Given the description of an element on the screen output the (x, y) to click on. 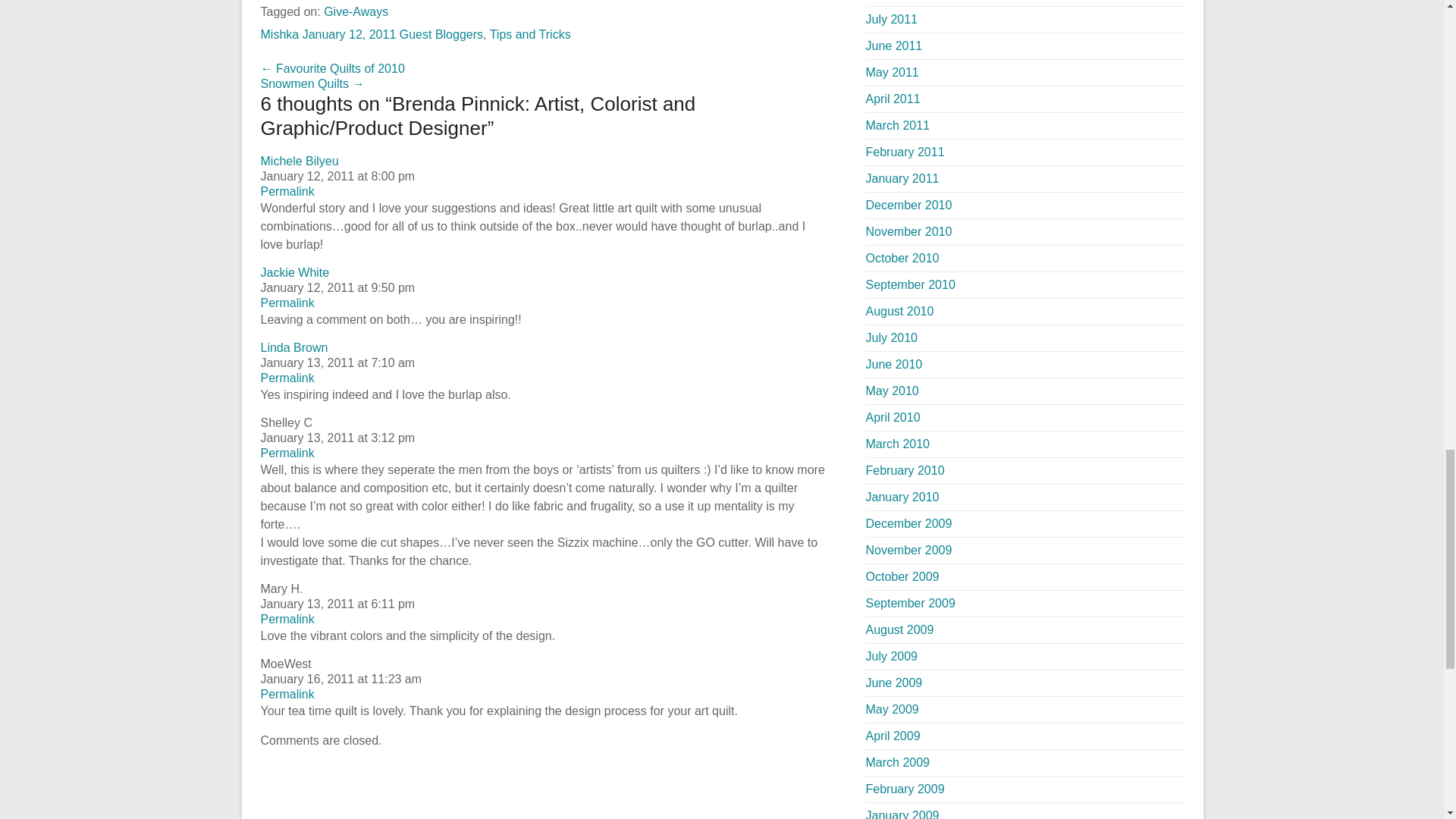
Permalink (287, 191)
Guest Bloggers (440, 33)
Michele Bilyeu (299, 160)
Permalink (287, 302)
Permalink (287, 377)
Jackie White (295, 272)
Linda Brown (294, 347)
Mishka (279, 33)
Permalink (287, 452)
Give-Aways (355, 11)
January 12, 2011 (349, 33)
Tips and Tricks (529, 33)
Permalink (287, 694)
6:37 pm (349, 33)
Permalink (287, 618)
